Given the description of an element on the screen output the (x, y) to click on. 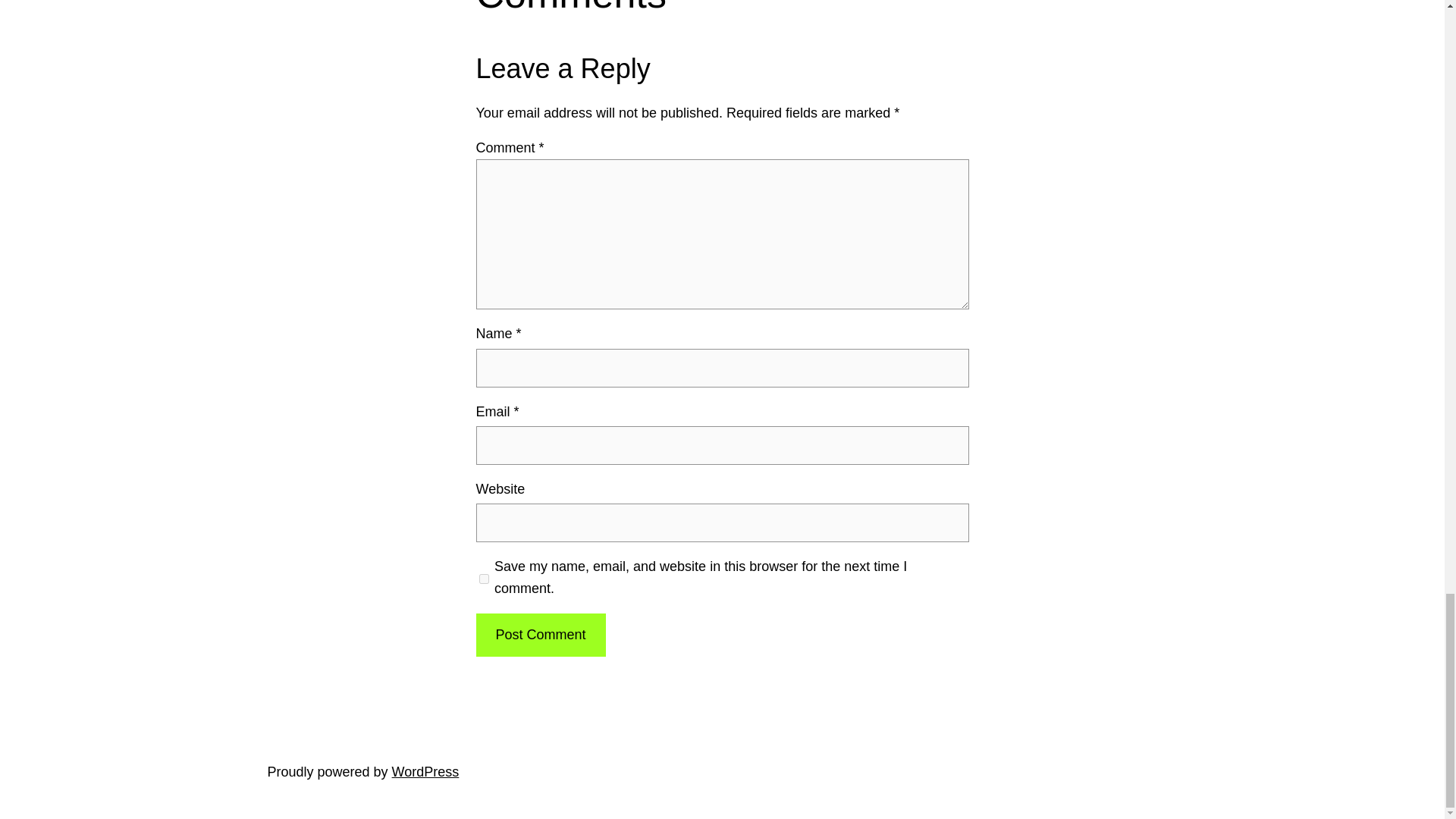
Post Comment (540, 634)
yes (484, 578)
WordPress (425, 771)
Post Comment (540, 634)
